Given the description of an element on the screen output the (x, y) to click on. 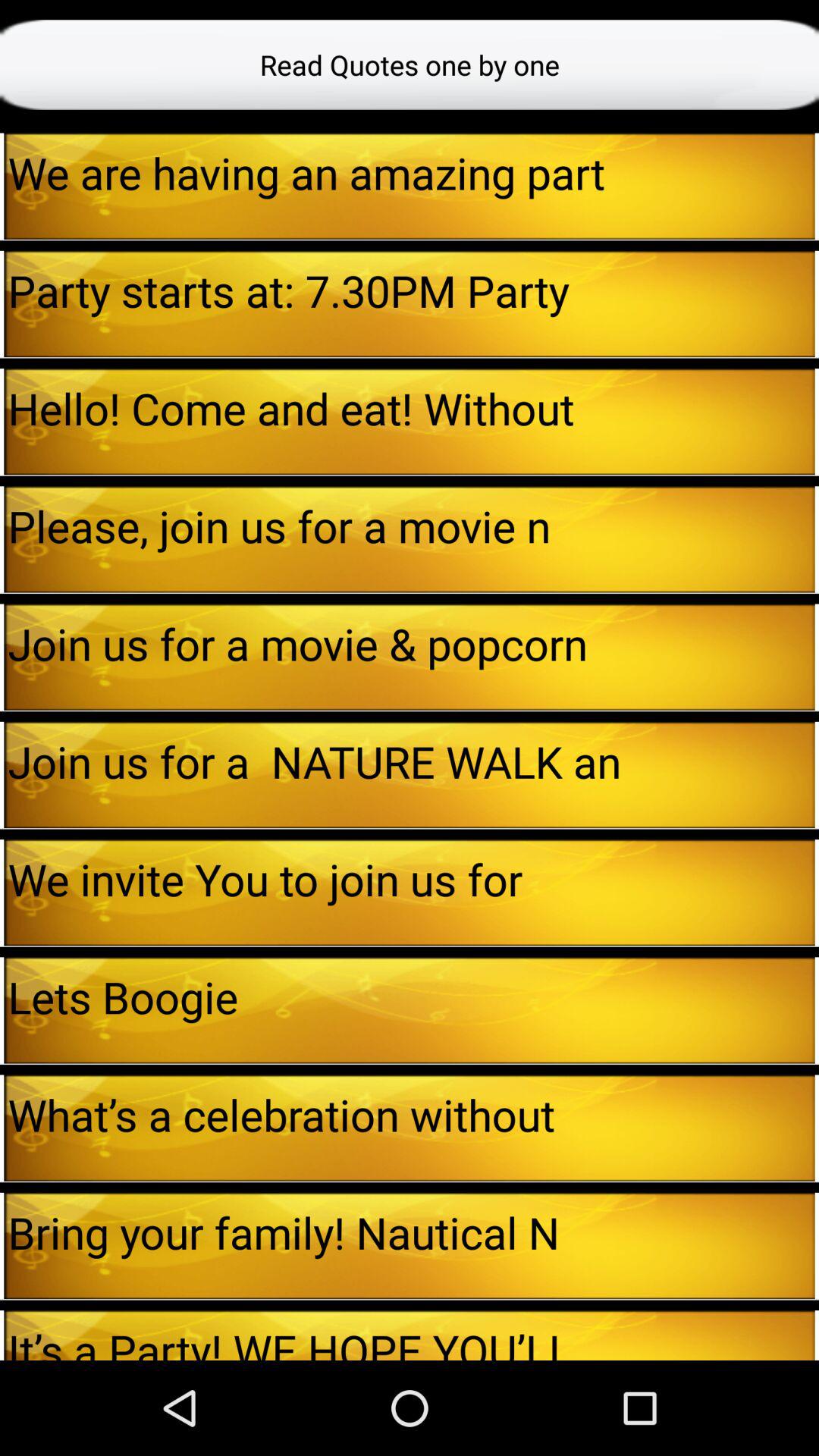
turn off the party starts at (411, 290)
